Given the description of an element on the screen output the (x, y) to click on. 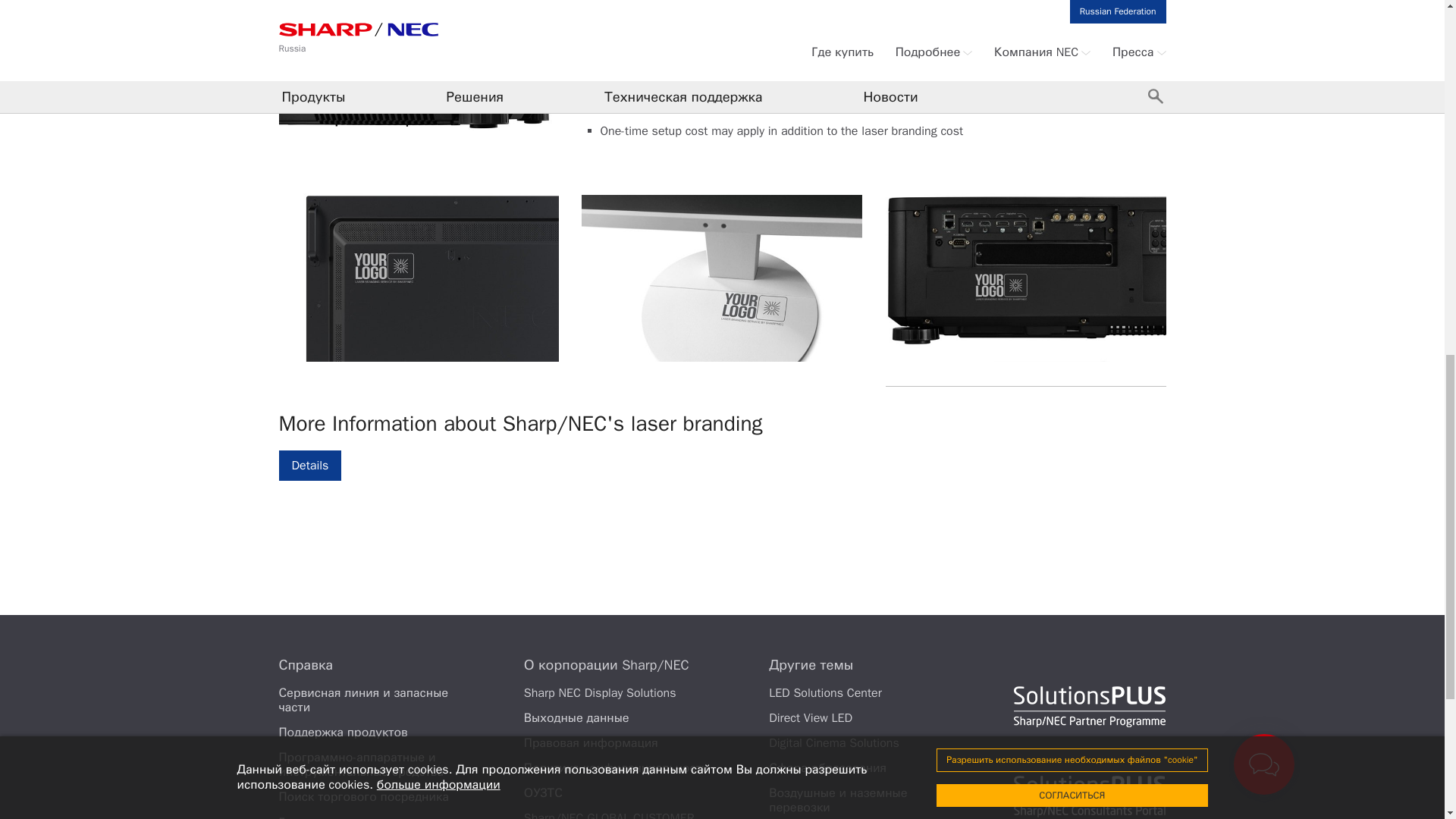
LED Solutions Center (825, 693)
Sharp NEC Consultant Partner Programme (1089, 795)
Direct View LED (809, 717)
Digital Cinema Solutions (833, 743)
